Given the description of an element on the screen output the (x, y) to click on. 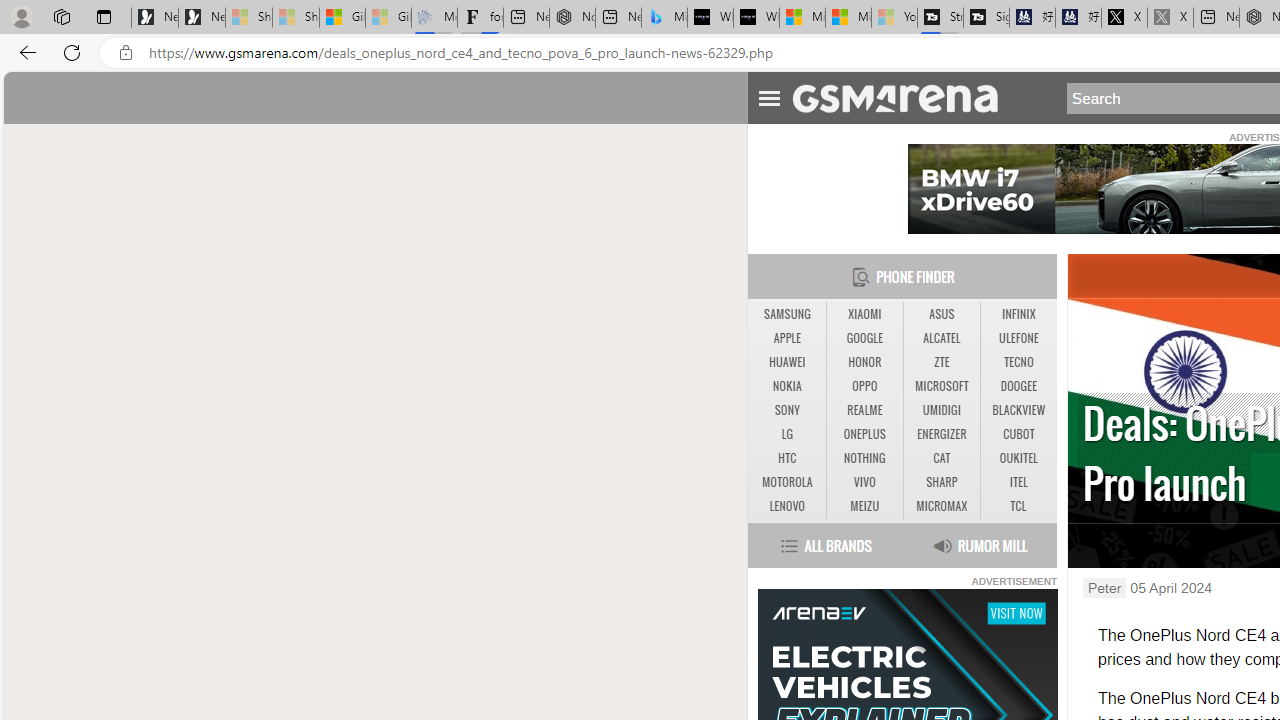
SHARP (941, 483)
HONOR (863, 362)
OUKITEL (1018, 457)
Streaming Coverage | T3 (939, 17)
ZTE (941, 362)
LG (786, 434)
ENERGIZER (941, 434)
ONEPLUS (863, 434)
HUAWEI (786, 362)
DOOGEE (1018, 385)
OUKITEL (1018, 458)
OPPO (864, 386)
MOTOROLA (786, 482)
